Given the description of an element on the screen output the (x, y) to click on. 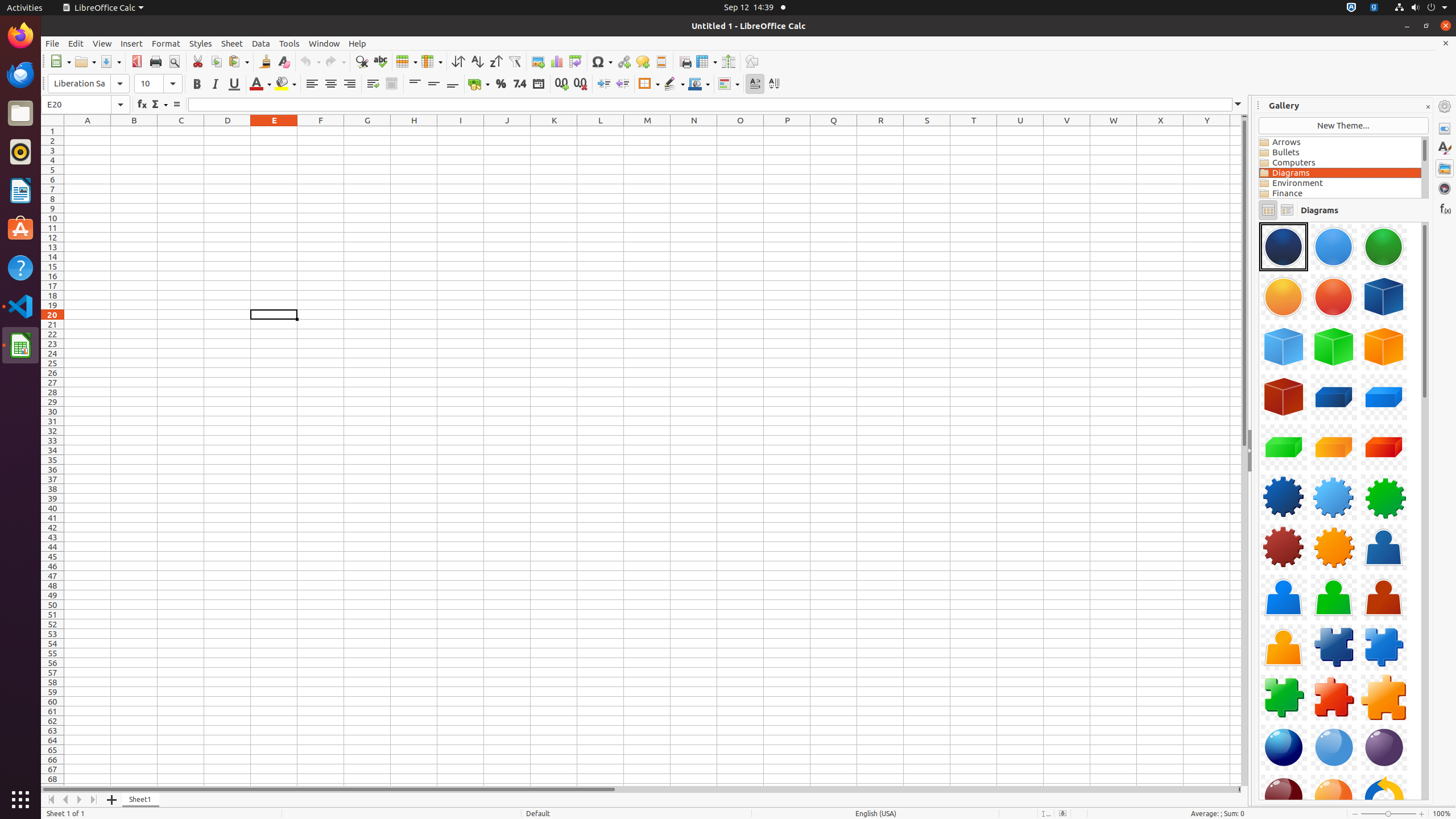
Detailed View Element type: toggle-button (1286, 210)
Find & Replace Element type: toggle-button (361, 61)
:1.72/StatusNotifierItem Element type: menu (1350, 7)
Functions Element type: radio-button (1444, 208)
Print Element type: push-button (155, 61)
